Given the description of an element on the screen output the (x, y) to click on. 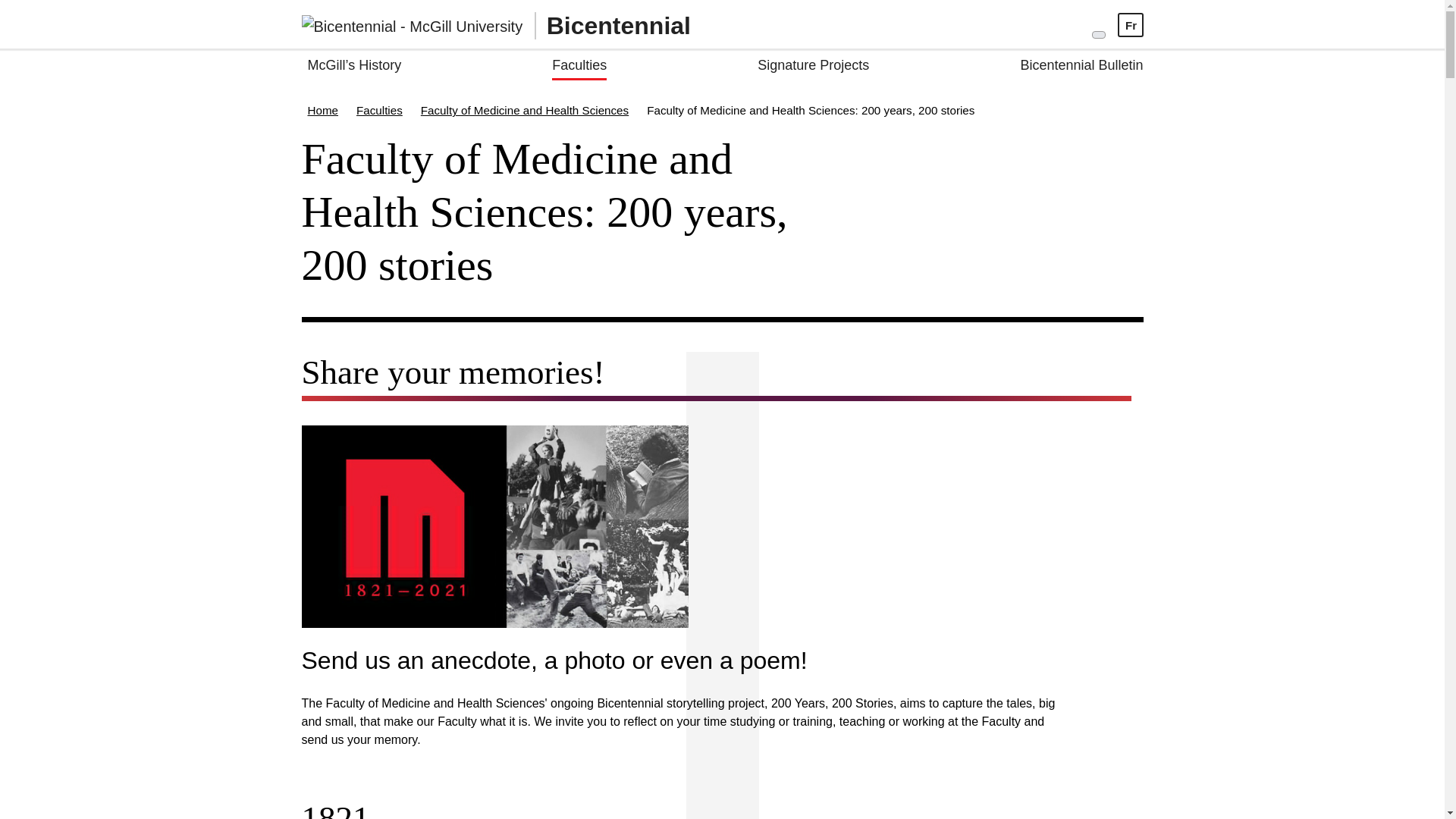
Fr (1130, 25)
Faculties (579, 67)
Faculties (379, 110)
Faculties (579, 67)
Send us an anecdote, a photo or even a poem! (679, 664)
Home (323, 110)
Signature Projects (813, 67)
Bicentennial Bulletin (1081, 67)
Bicentennial (495, 24)
Bicentennial Bulletin (1081, 67)
